Given the description of an element on the screen output the (x, y) to click on. 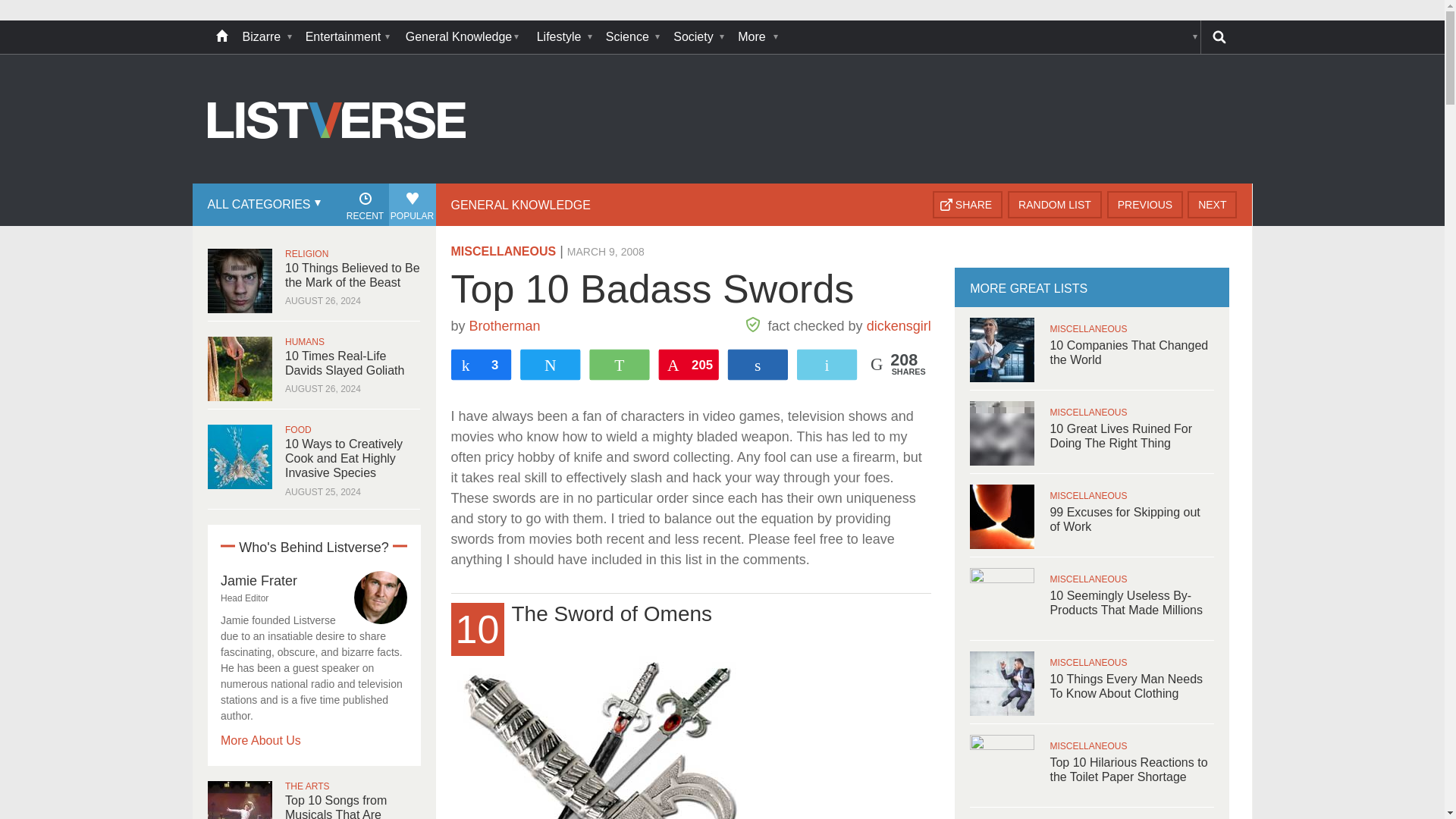
More (756, 37)
Popular (411, 204)
Go to Home (336, 181)
All Categories (262, 204)
Society (697, 37)
Share (968, 204)
Science (631, 37)
Recent (364, 204)
General Knowledge (462, 37)
Entertainment (347, 37)
